Given the description of an element on the screen output the (x, y) to click on. 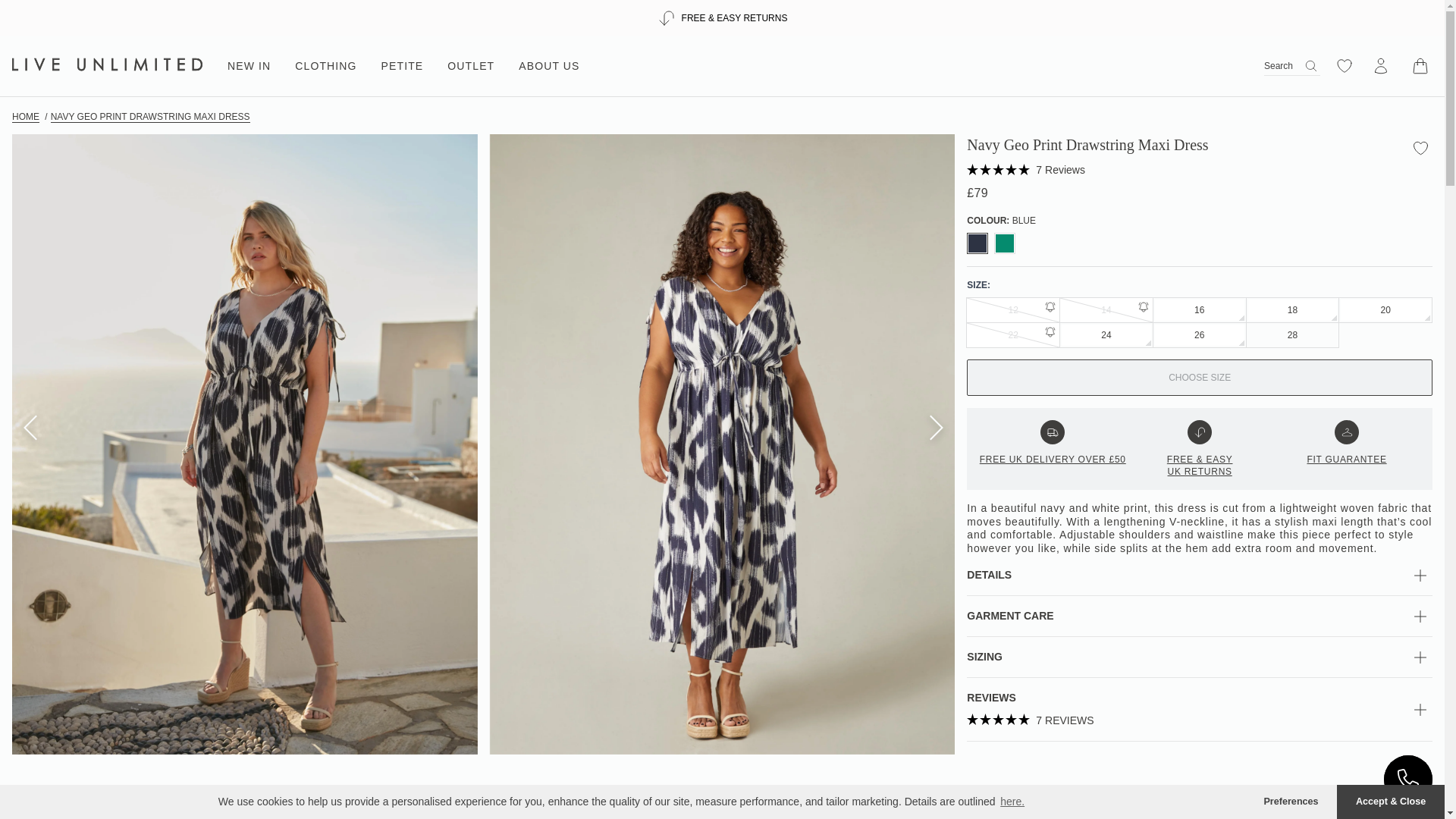
Preferences (1290, 801)
here. (1011, 801)
